Given the description of an element on the screen output the (x, y) to click on. 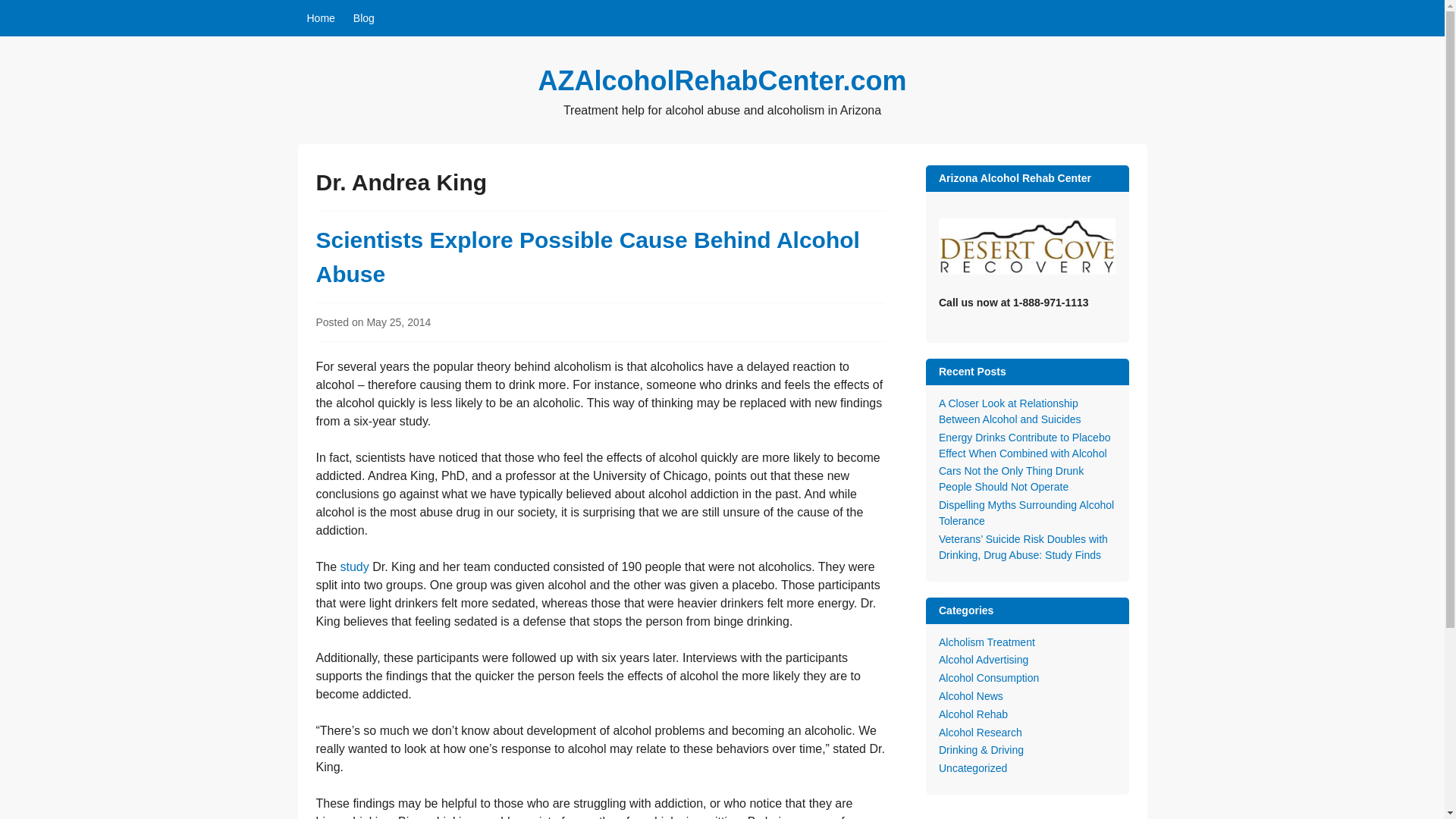
Home (320, 18)
AZAlcoholRehabCenter.com (721, 80)
Alcohol Consumption (989, 677)
Blog (363, 18)
Scientists Explore Possible Cause Behind Alcohol Abuse (587, 256)
Alcohol Advertising (983, 659)
Alcohol Rehab (973, 714)
Alcholism Treatment (987, 642)
Uncategorized (973, 767)
Cars Not the Only Thing Drunk People Should Not Operate (1011, 479)
Alcohol Research (980, 732)
A Closer Look at Relationship Between Alcohol and Suicides (1010, 411)
Alcohol News (971, 695)
study (354, 566)
